Given the description of an element on the screen output the (x, y) to click on. 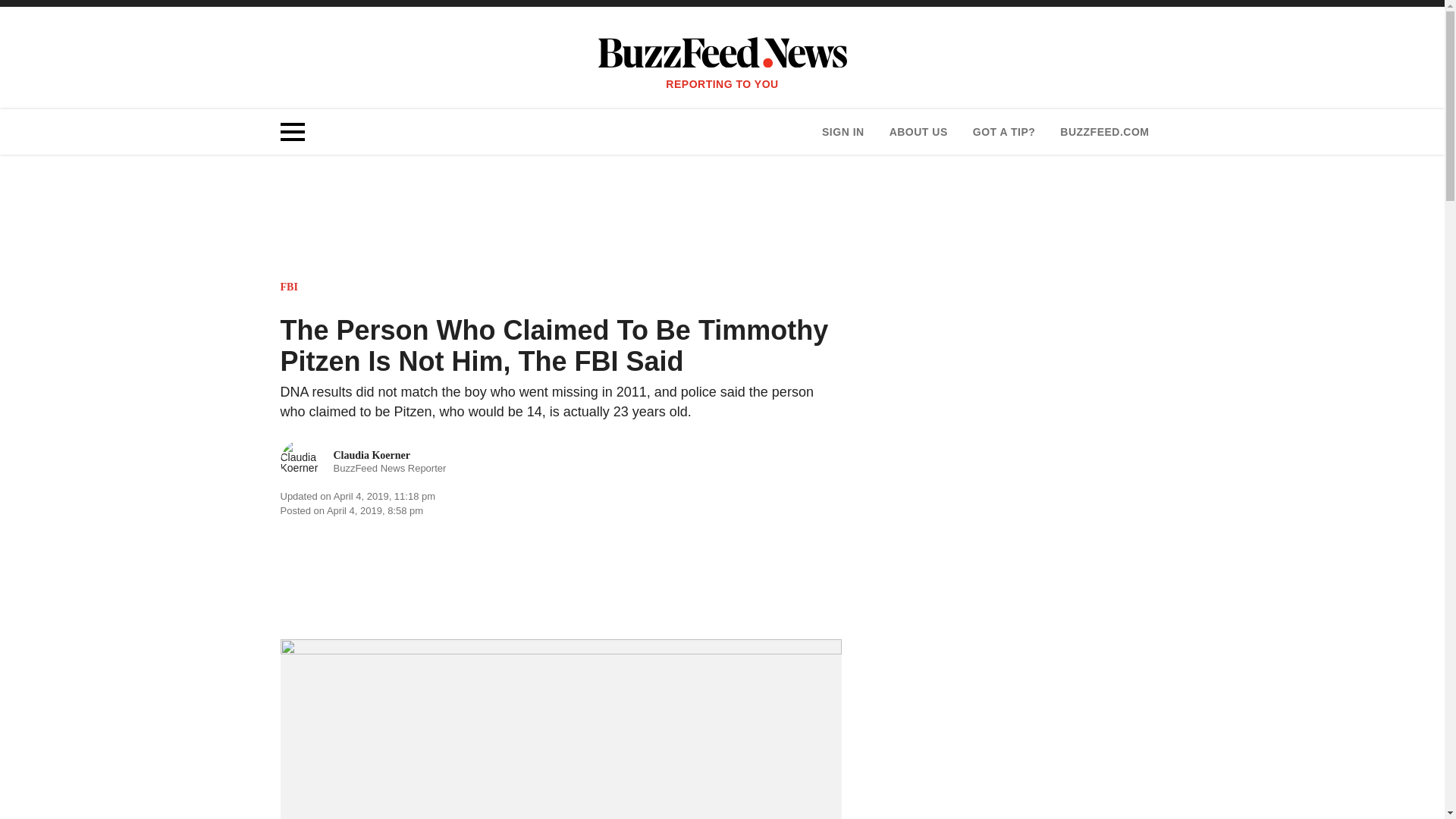
FBI (289, 286)
SIGN IN (842, 131)
GOT A TIP? (363, 461)
ABOUT US (1003, 131)
BUZZFEED.COM (917, 131)
